Given the description of an element on the screen output the (x, y) to click on. 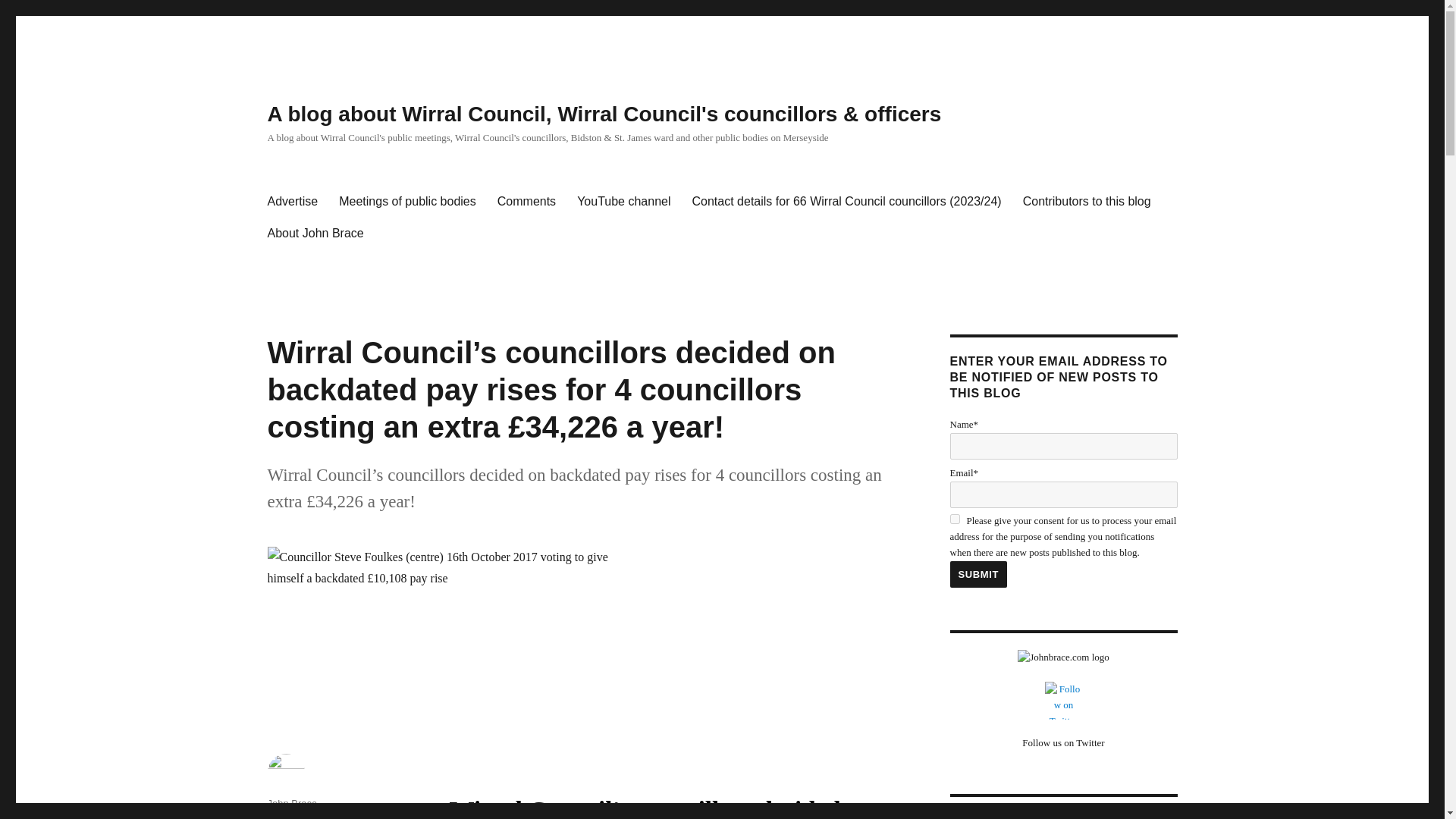
Meetings of public bodies (407, 201)
About John Brace (315, 233)
John Brace (291, 803)
Comments (526, 201)
true (954, 519)
YouTube channel (623, 201)
Advertise (292, 201)
Contributors to this blog (1086, 201)
Submit (978, 574)
